Given the description of an element on the screen output the (x, y) to click on. 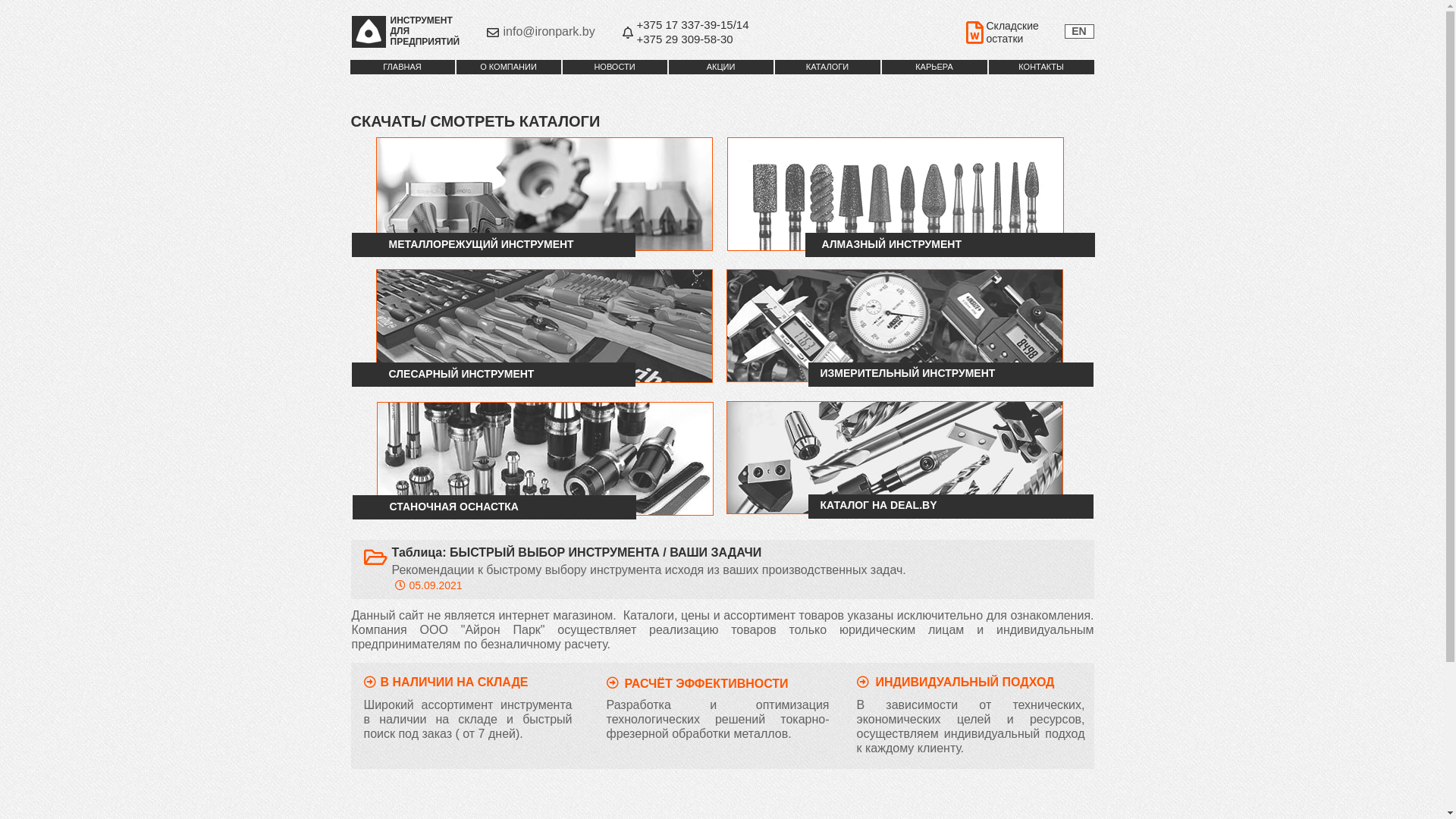
email Element type: hover (507, 45)
Iron Park_Logo_insert Element type: hover (367, 31)
EN Element type: text (1079, 31)
